Given the description of an element on the screen output the (x, y) to click on. 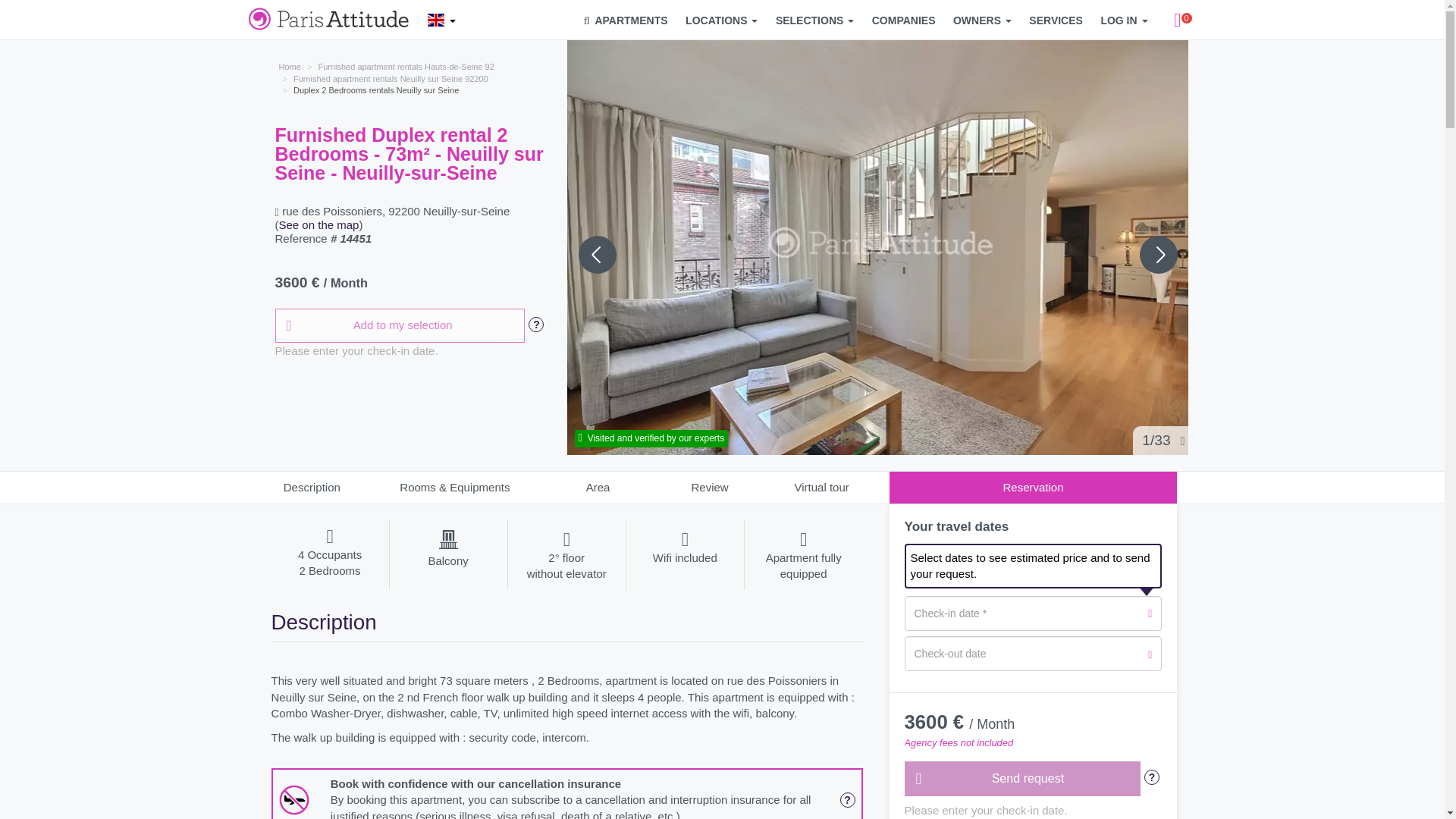
0 (1177, 20)
LOCATIONS (721, 20)
APARTMENTS (625, 20)
